Given the description of an element on the screen output the (x, y) to click on. 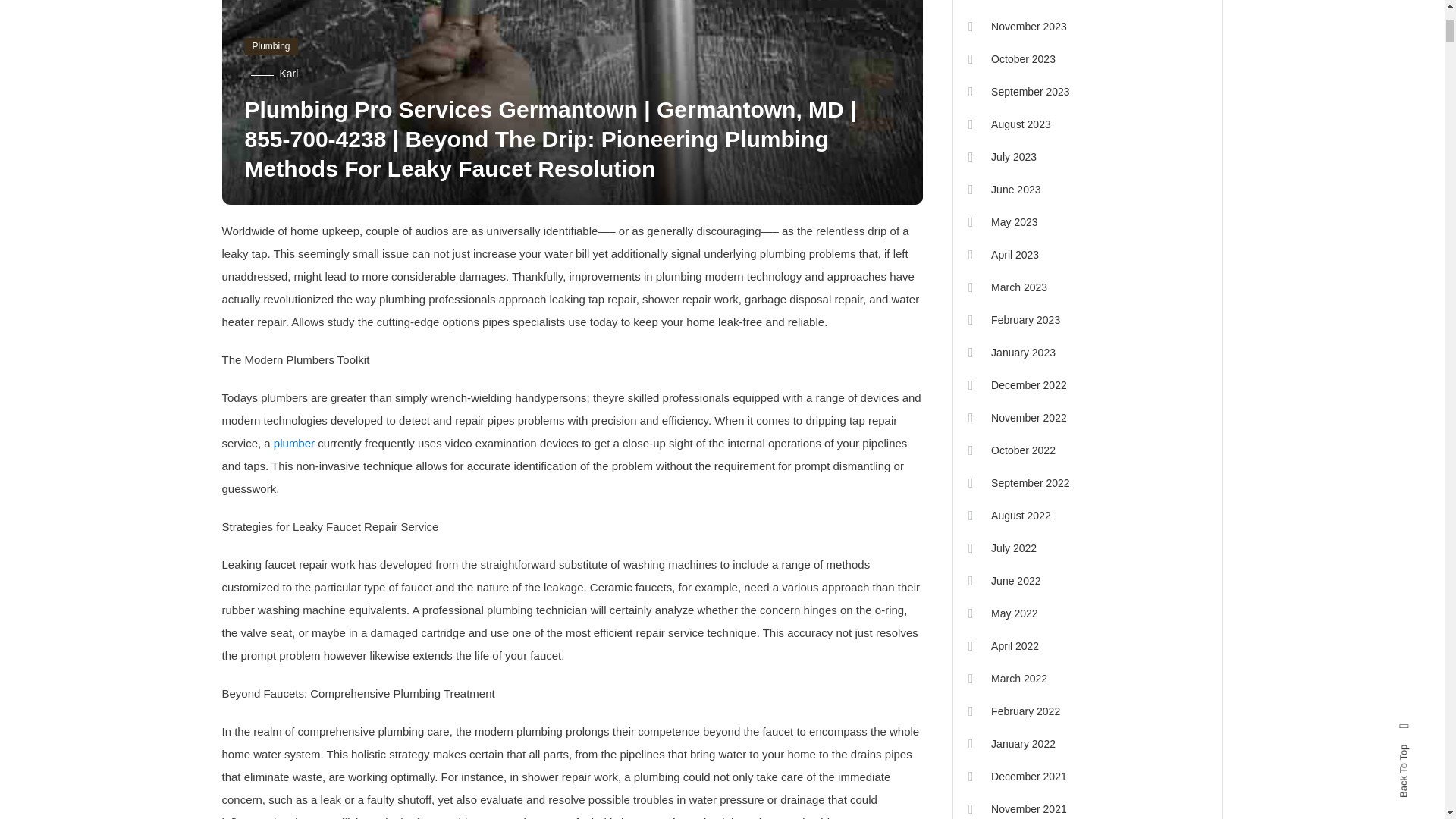
Plumbing (270, 46)
